Given the description of an element on the screen output the (x, y) to click on. 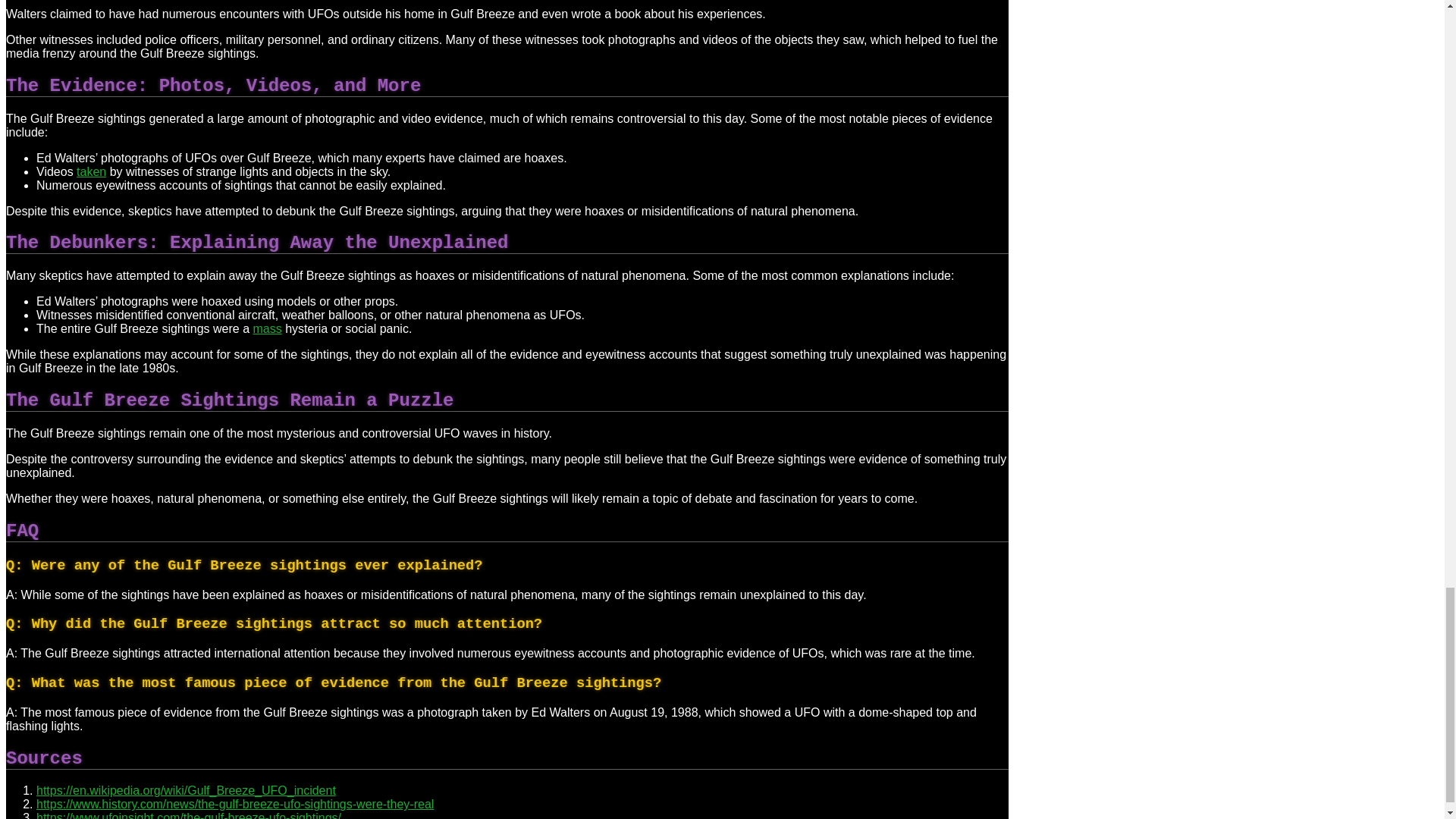
taken (91, 171)
mass (266, 328)
